Given the description of an element on the screen output the (x, y) to click on. 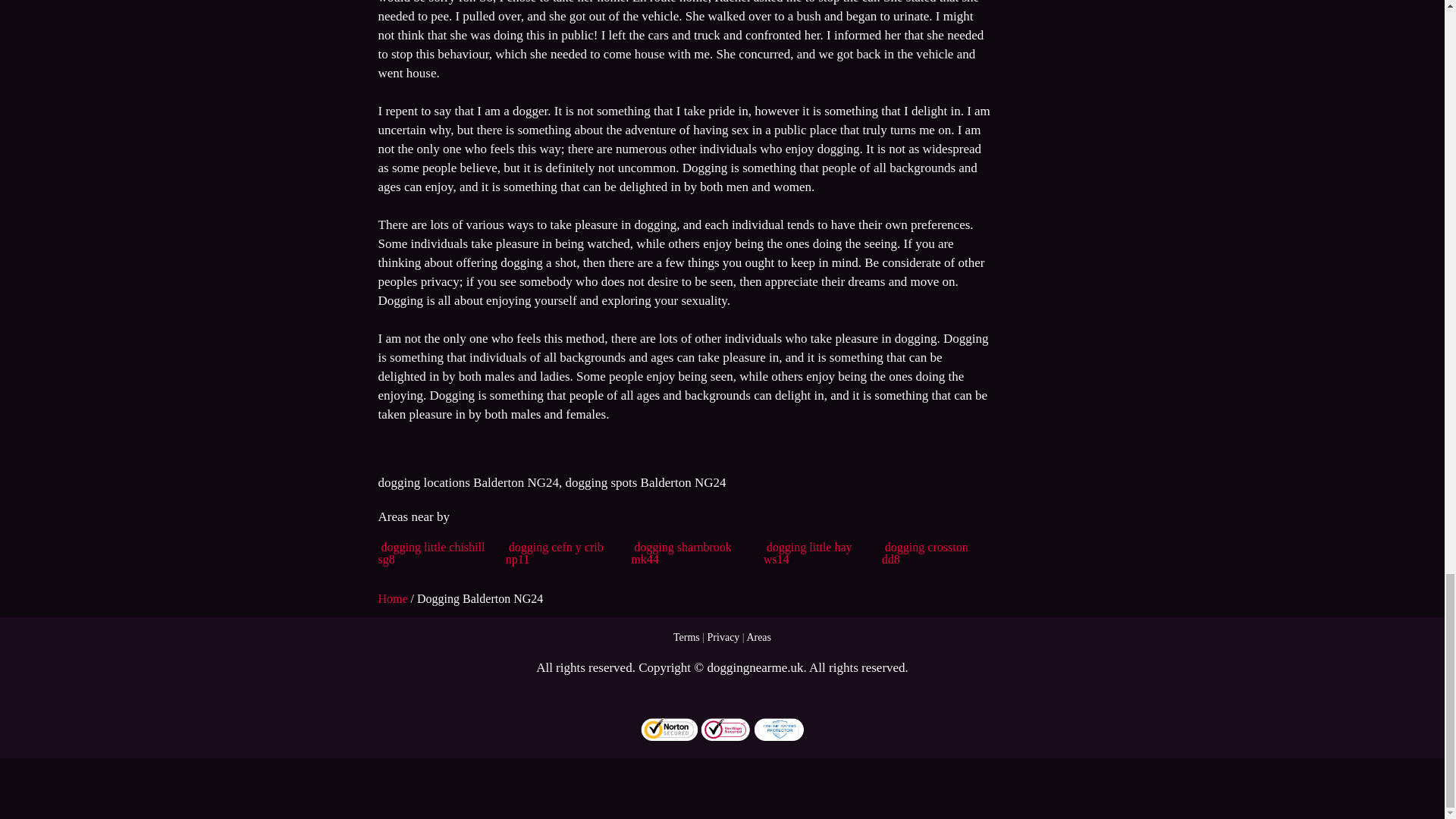
dogging crosston dd8 (925, 552)
Terms (686, 636)
dogging little chishill sg8 (430, 552)
Areas (758, 636)
Privacy (723, 636)
Areas (758, 636)
Privacy (723, 636)
Terms (686, 636)
dogging sharnbrook mk44 (680, 552)
Home (393, 598)
